Given the description of an element on the screen output the (x, y) to click on. 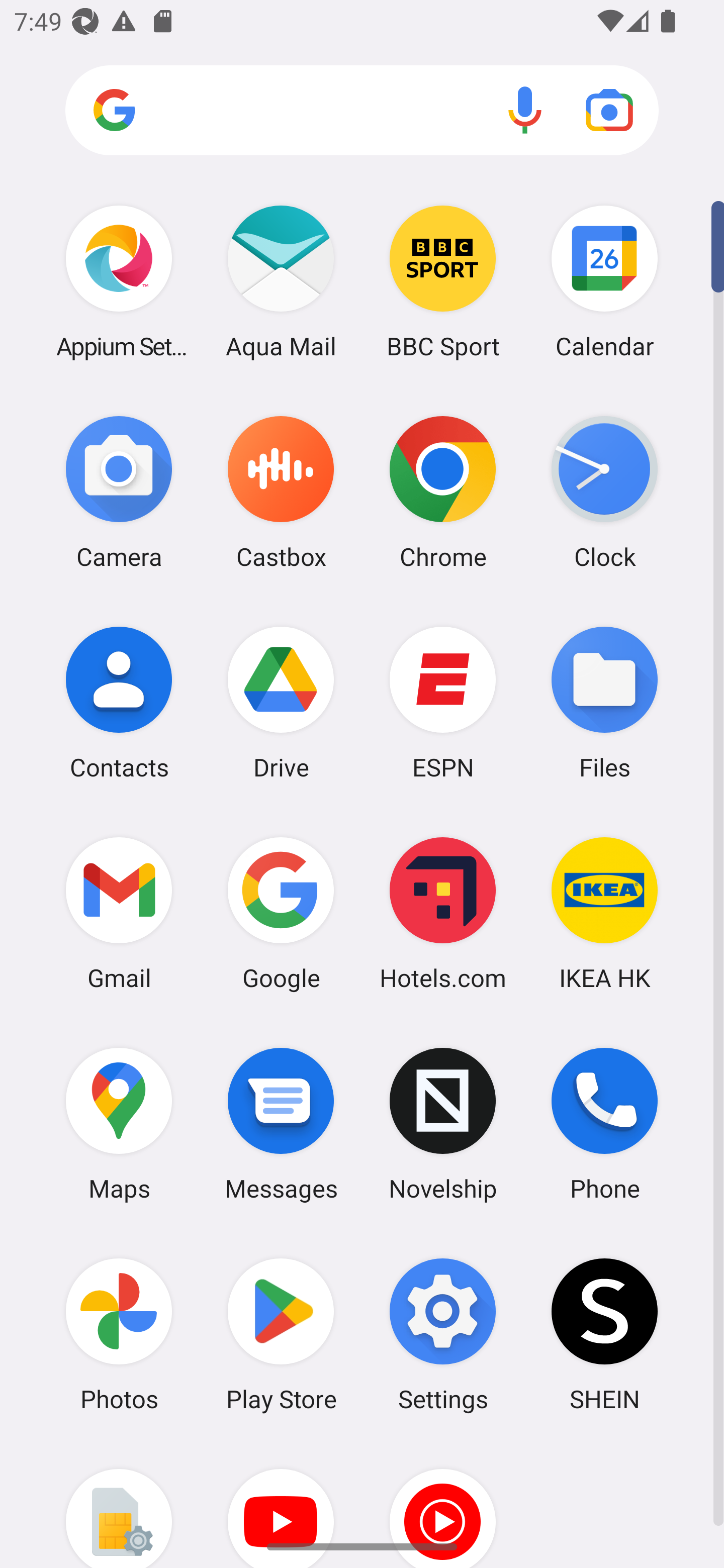
Search apps, web and more (361, 110)
Voice search (524, 109)
Google Lens (608, 109)
Appium Settings (118, 281)
Aqua Mail (280, 281)
BBC Sport (443, 281)
Calendar (604, 281)
Camera (118, 492)
Castbox (280, 492)
Chrome (443, 492)
Clock (604, 492)
Contacts (118, 702)
Drive (280, 702)
ESPN (443, 702)
Files (604, 702)
Gmail (118, 913)
Google (280, 913)
Hotels.com (443, 913)
IKEA HK (604, 913)
Maps (118, 1124)
Messages (280, 1124)
Novelship (443, 1124)
Phone (604, 1124)
Photos (118, 1334)
Play Store (280, 1334)
Settings (443, 1334)
SHEIN (604, 1334)
TMoble (118, 1503)
YouTube (280, 1503)
YT Music (443, 1503)
